Given the description of an element on the screen output the (x, y) to click on. 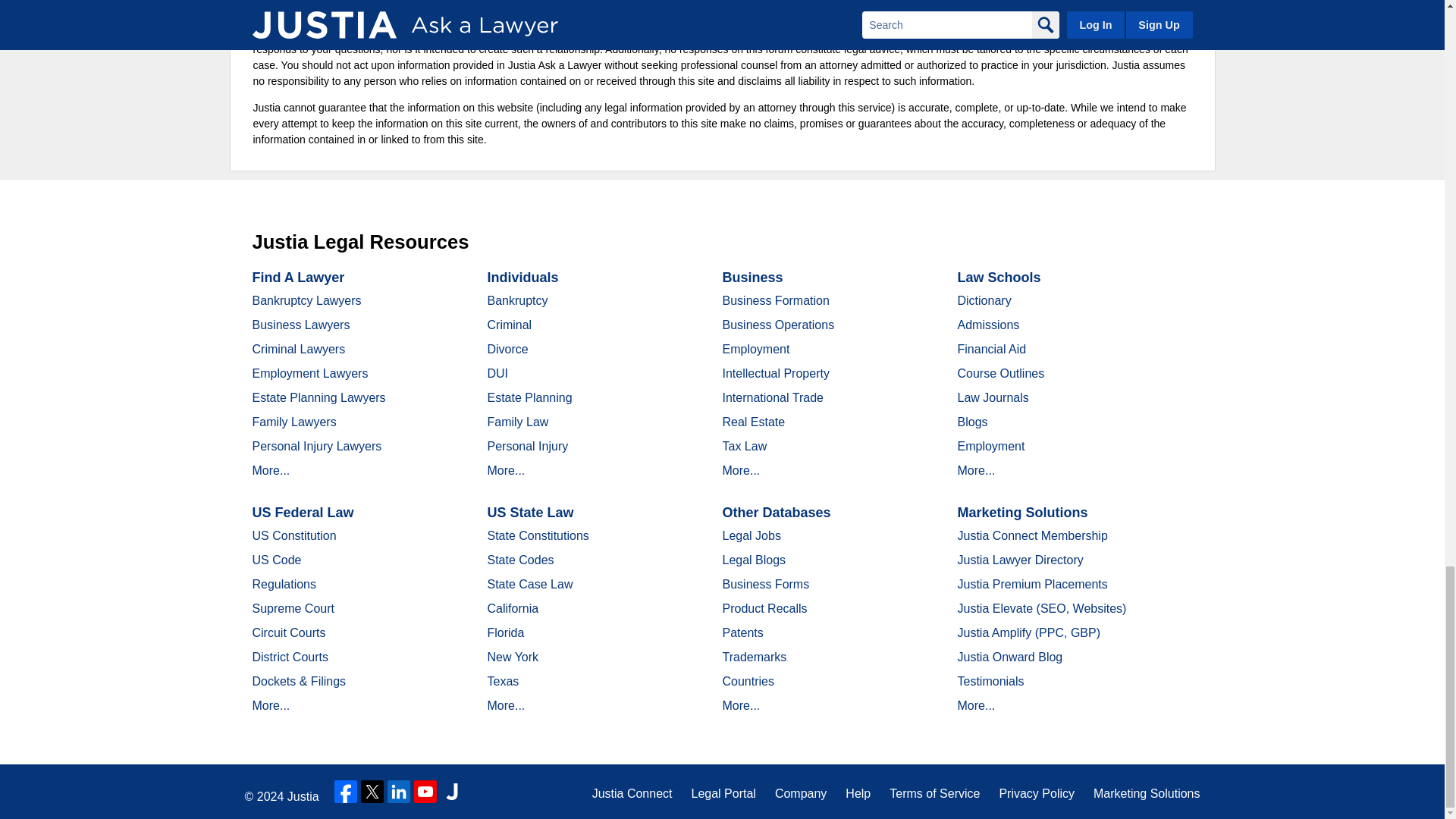
YouTube (424, 791)
Justia Lawyer Directory (452, 791)
LinkedIn (398, 791)
Twitter (372, 791)
Facebook (345, 791)
